Given the description of an element on the screen output the (x, y) to click on. 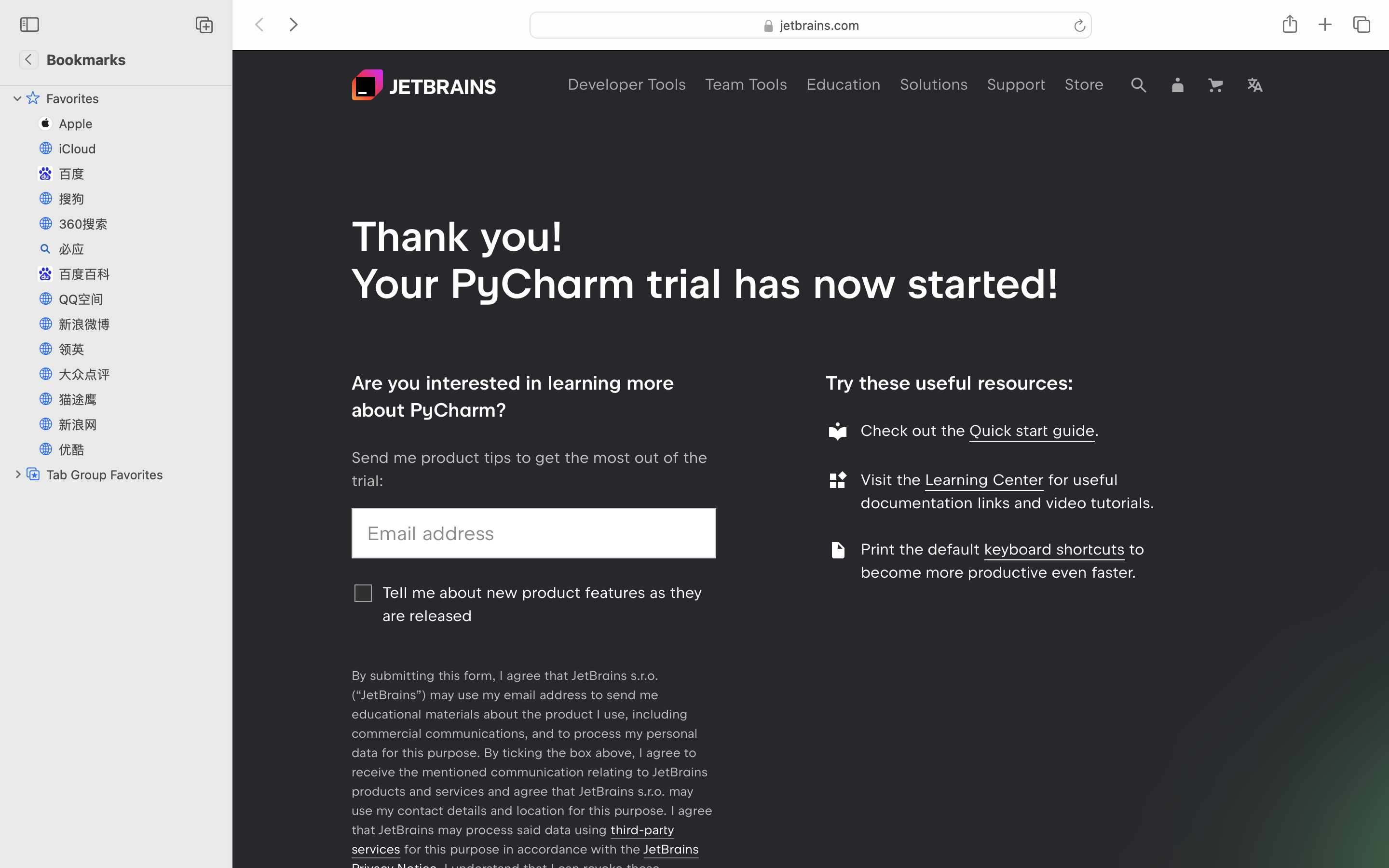
Are you interested in learning more about PyCharm? Element type: AXStaticText (512, 396)
搜狗 Element type: AXTextField (139, 198)
to become more productive even faster. Element type: AXStaticText (1002, 560)
新浪微博 Element type: AXTextField (139, 323)
Apple Element type: AXTextField (139, 123)
